Given the description of an element on the screen output the (x, y) to click on. 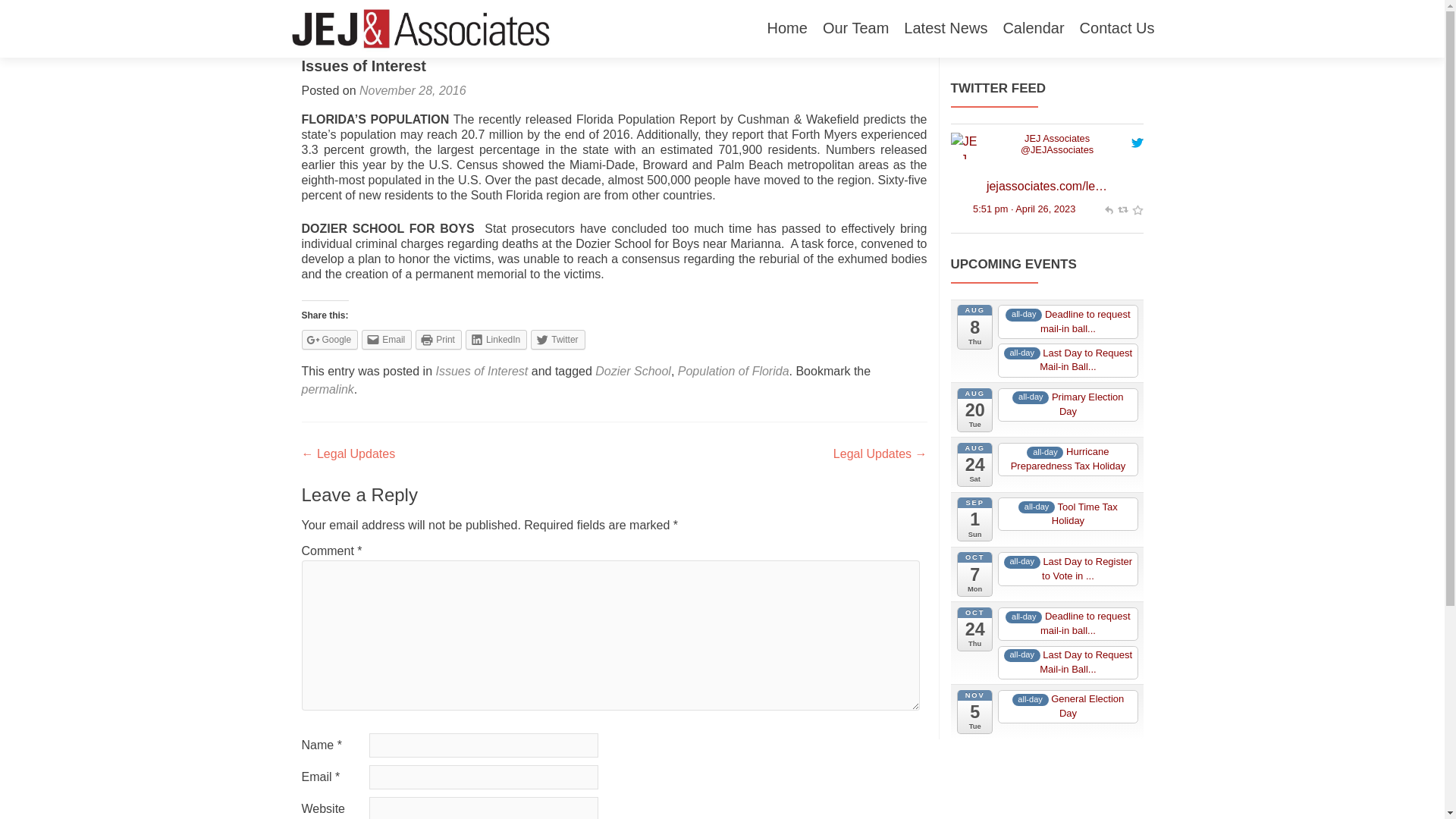
Contact Us (1117, 28)
JEJ Associates (1057, 138)
Click to share on Twitter (558, 339)
November 28, 2016 (412, 90)
Twitter (558, 339)
Home (787, 28)
Google (329, 339)
favorite (1136, 208)
permalink (327, 389)
Population of Florida (733, 370)
Calendar (1033, 28)
JEJ Associates (1057, 138)
Print (437, 339)
reply (1107, 208)
JEJ Associates (1056, 149)
